Given the description of an element on the screen output the (x, y) to click on. 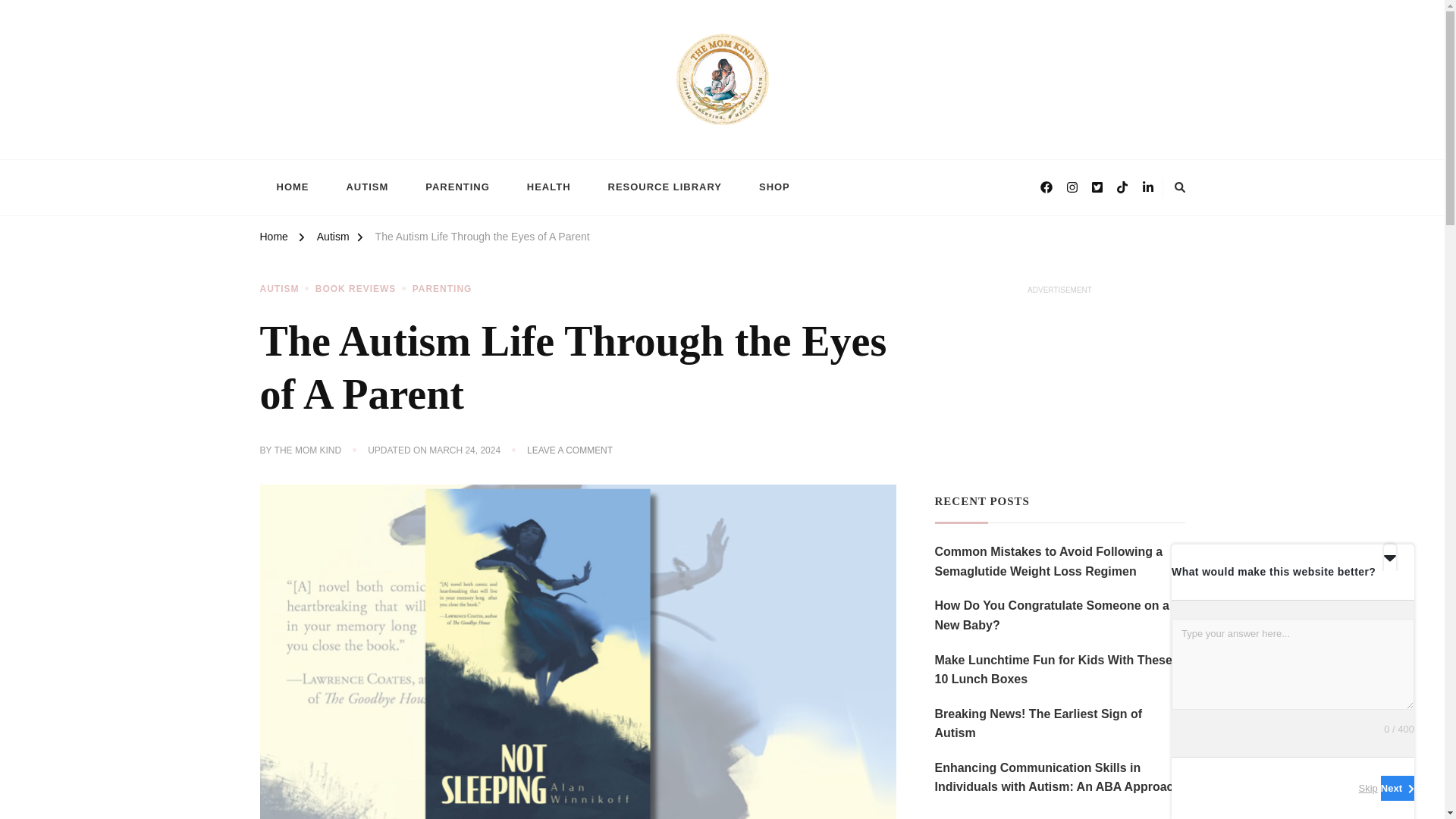
Home (272, 238)
Autism (333, 238)
AUTISM (366, 187)
THE MOM KIND (308, 450)
MARCH 24, 2024 (464, 450)
SHOP (774, 187)
HEALTH (549, 187)
The Mom Kind (334, 150)
RESOURCE LIBRARY (664, 187)
HOME (291, 187)
AUTISM (286, 289)
PARENTING (441, 289)
BOOK REVIEWS (362, 289)
The Autism Life Through the Eyes of A Parent (482, 238)
